Given the description of an element on the screen output the (x, y) to click on. 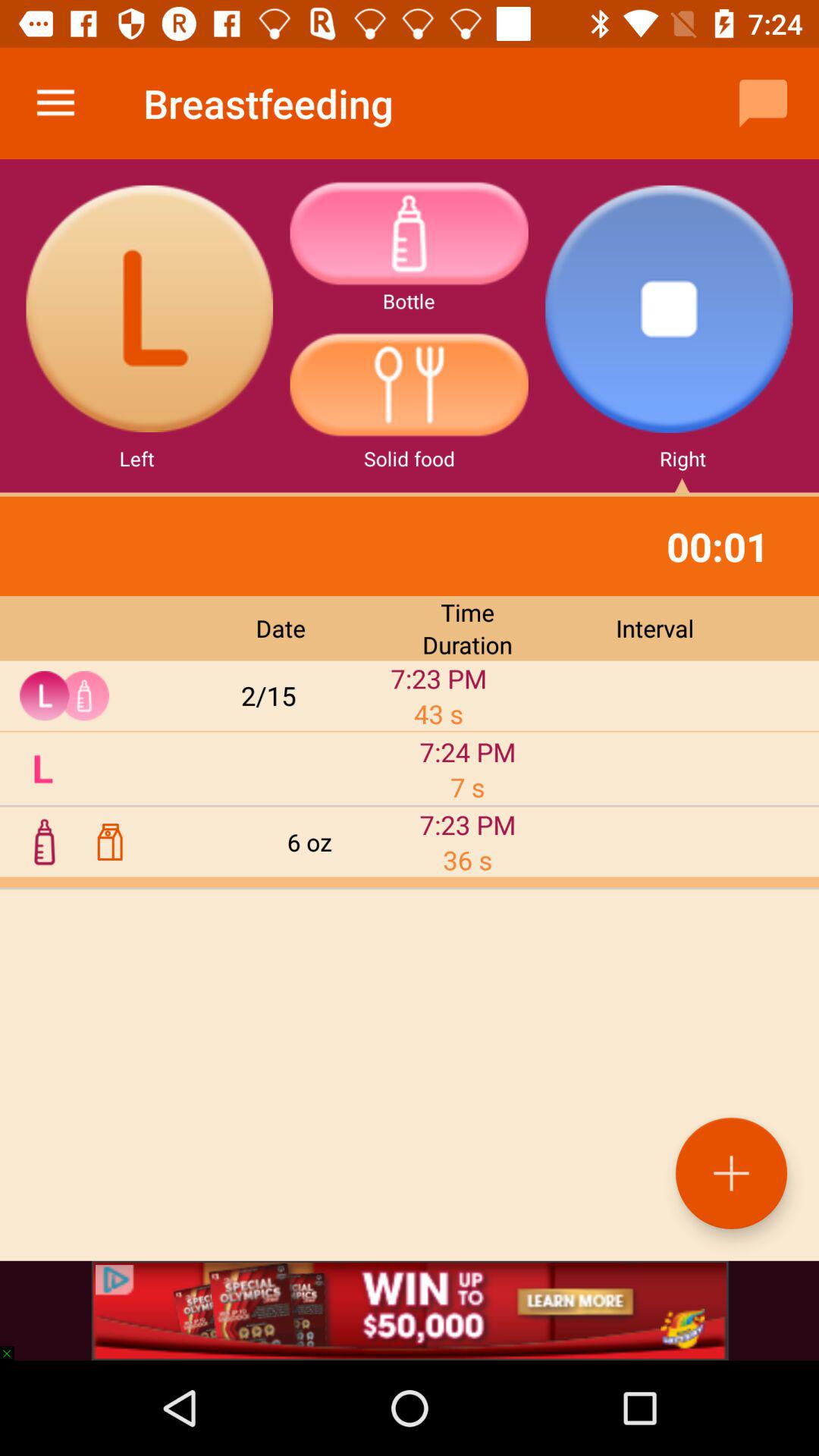
select the icon at the bottom left corner (14, 1346)
